Given the description of an element on the screen output the (x, y) to click on. 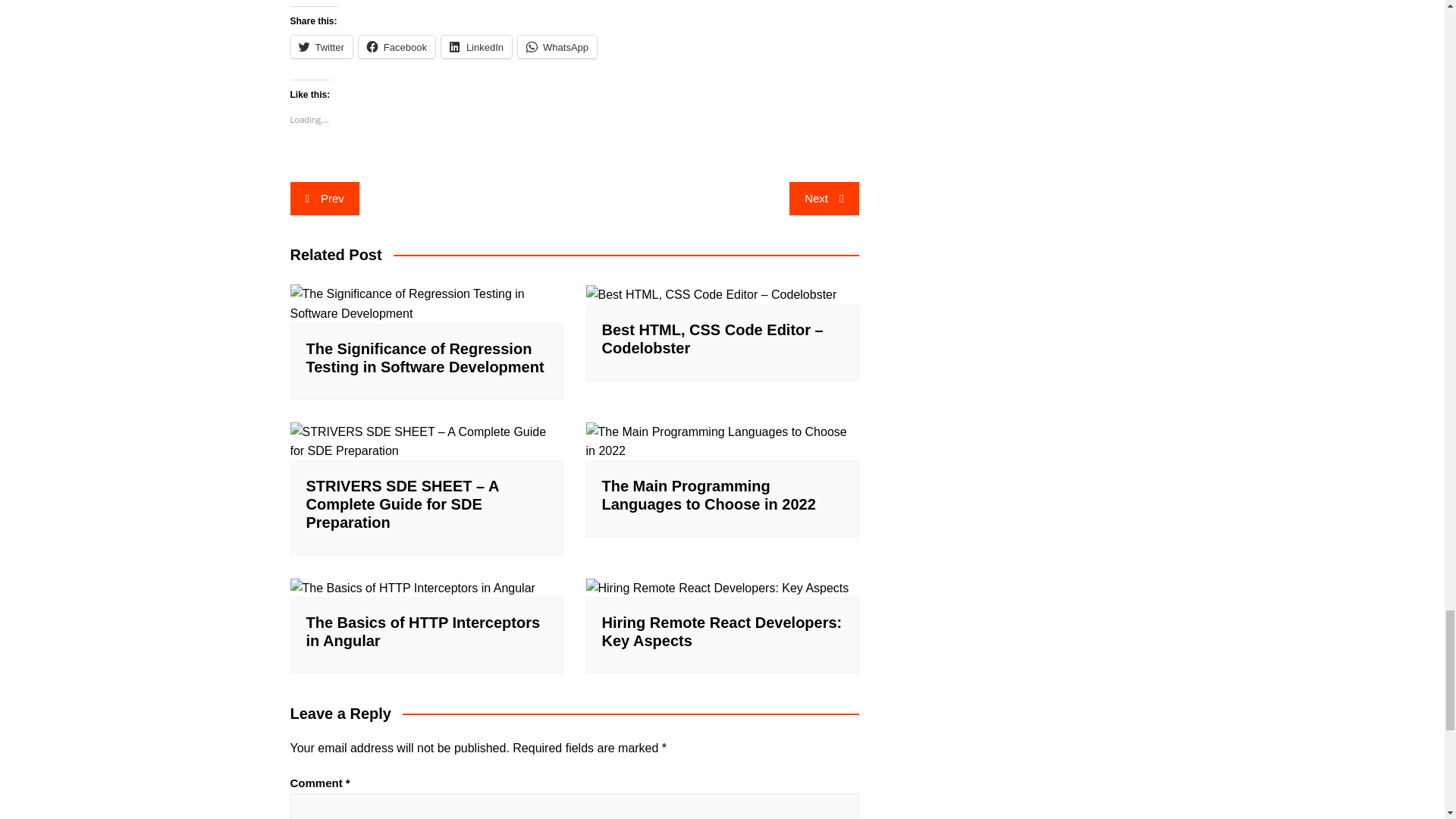
Click to share on LinkedIn (476, 47)
Facebook (396, 47)
Next (824, 198)
Prev (323, 198)
Twitter (320, 47)
Click to share on Twitter (320, 47)
LinkedIn (476, 47)
Click to share on WhatsApp (557, 47)
Click to share on Facebook (396, 47)
WhatsApp (557, 47)
